Given the description of an element on the screen output the (x, y) to click on. 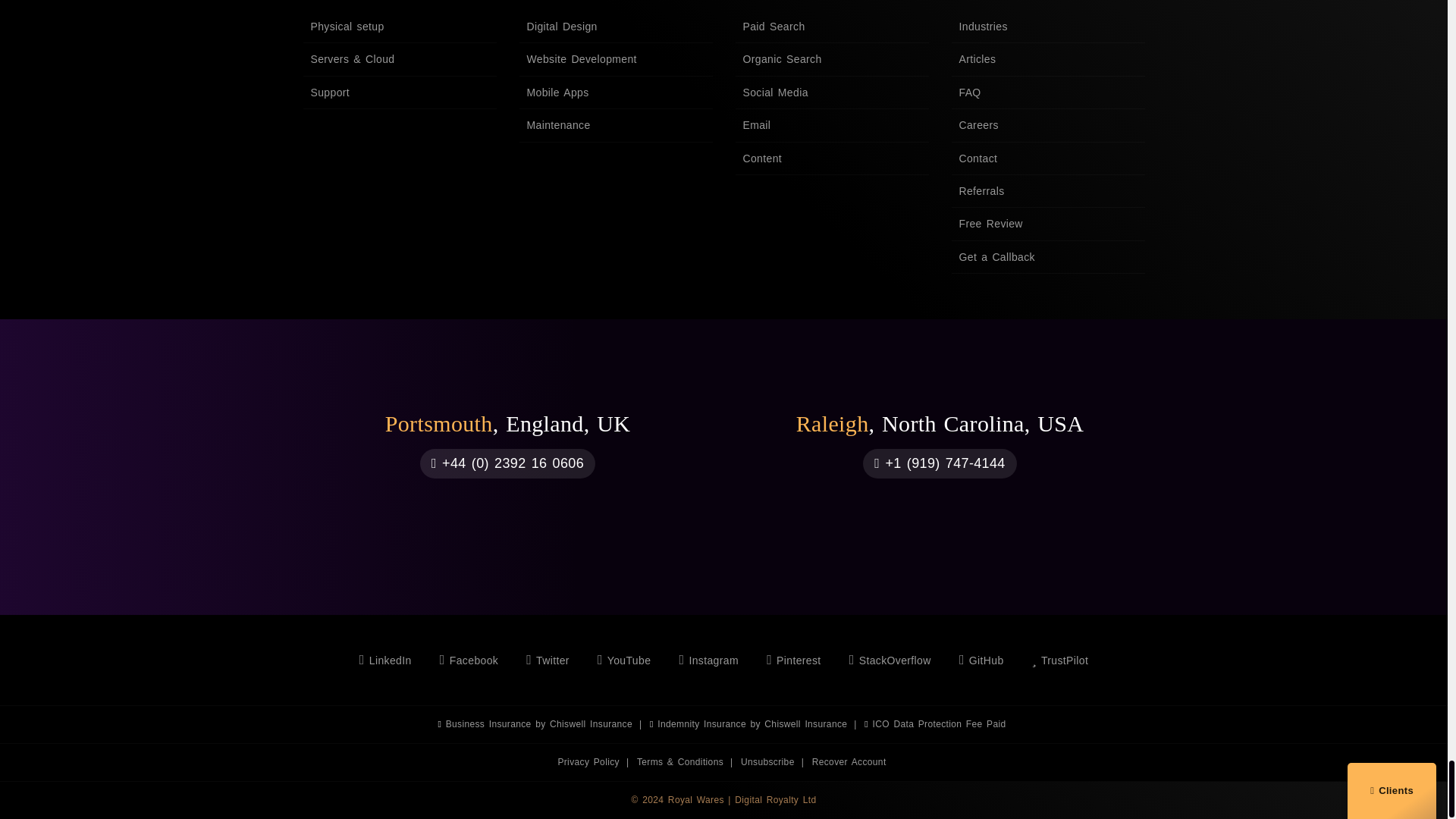
Website Development (614, 59)
Digital Design (614, 26)
Social Media (831, 92)
Physical setup (399, 26)
Organic Search (831, 59)
Support (399, 92)
Maintenance (614, 124)
Paid Search (831, 26)
Mobile Apps (614, 92)
Email (831, 124)
